Given the description of an element on the screen output the (x, y) to click on. 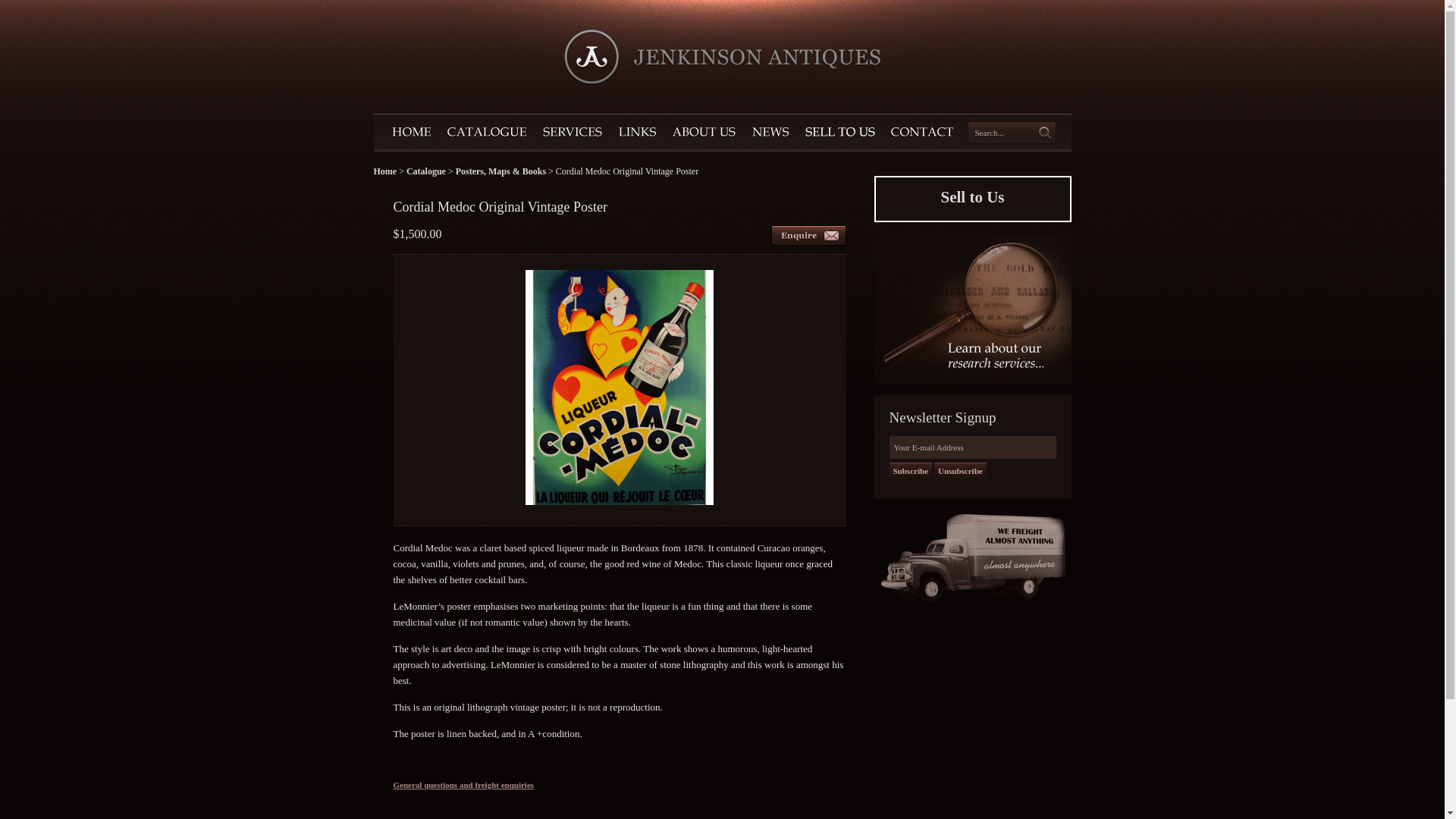
Cordial Medoc Original Vintage Poster Element type: hover (619, 509)
Home Element type: text (384, 171)
Jenkinson Antiques Element type: text (721, 56)
Catalogue Element type: text (425, 171)
Search Element type: text (1043, 132)
General questions and freight enquiries Element type: text (462, 784)
Posters, Maps & Books Element type: text (500, 171)
General questions and freight enquiries Element type: text (807, 235)
Unsubscribe Element type: text (960, 470)
Sell to Us Element type: text (971, 198)
Subscribe Element type: text (909, 470)
